Given the description of an element on the screen output the (x, y) to click on. 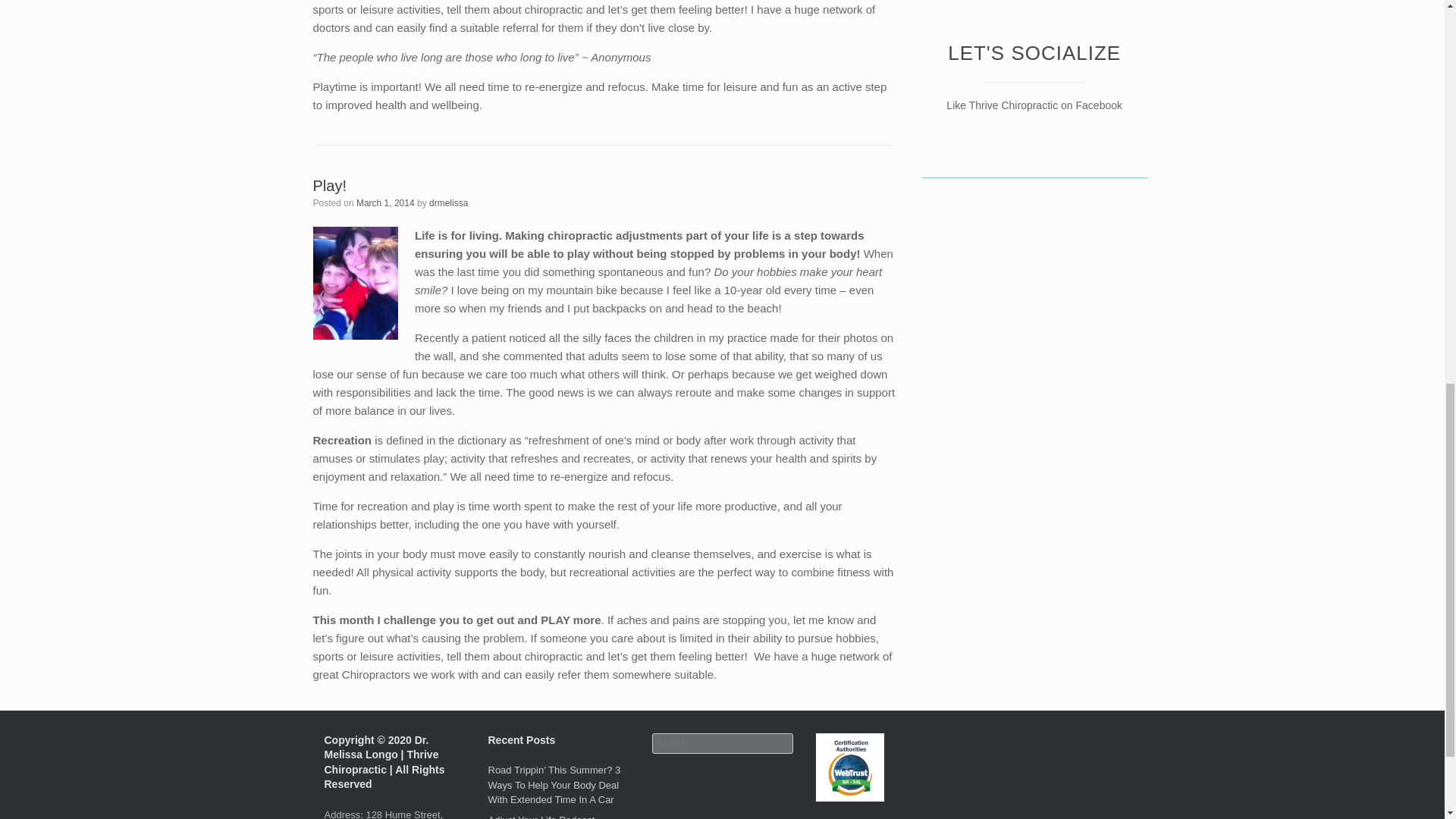
Play! (329, 185)
drmelissa (448, 203)
View all posts by drmelissa (448, 203)
March 1, 2014 (385, 203)
1:56 am (385, 203)
Permalink to Play! (329, 185)
